Given the description of an element on the screen output the (x, y) to click on. 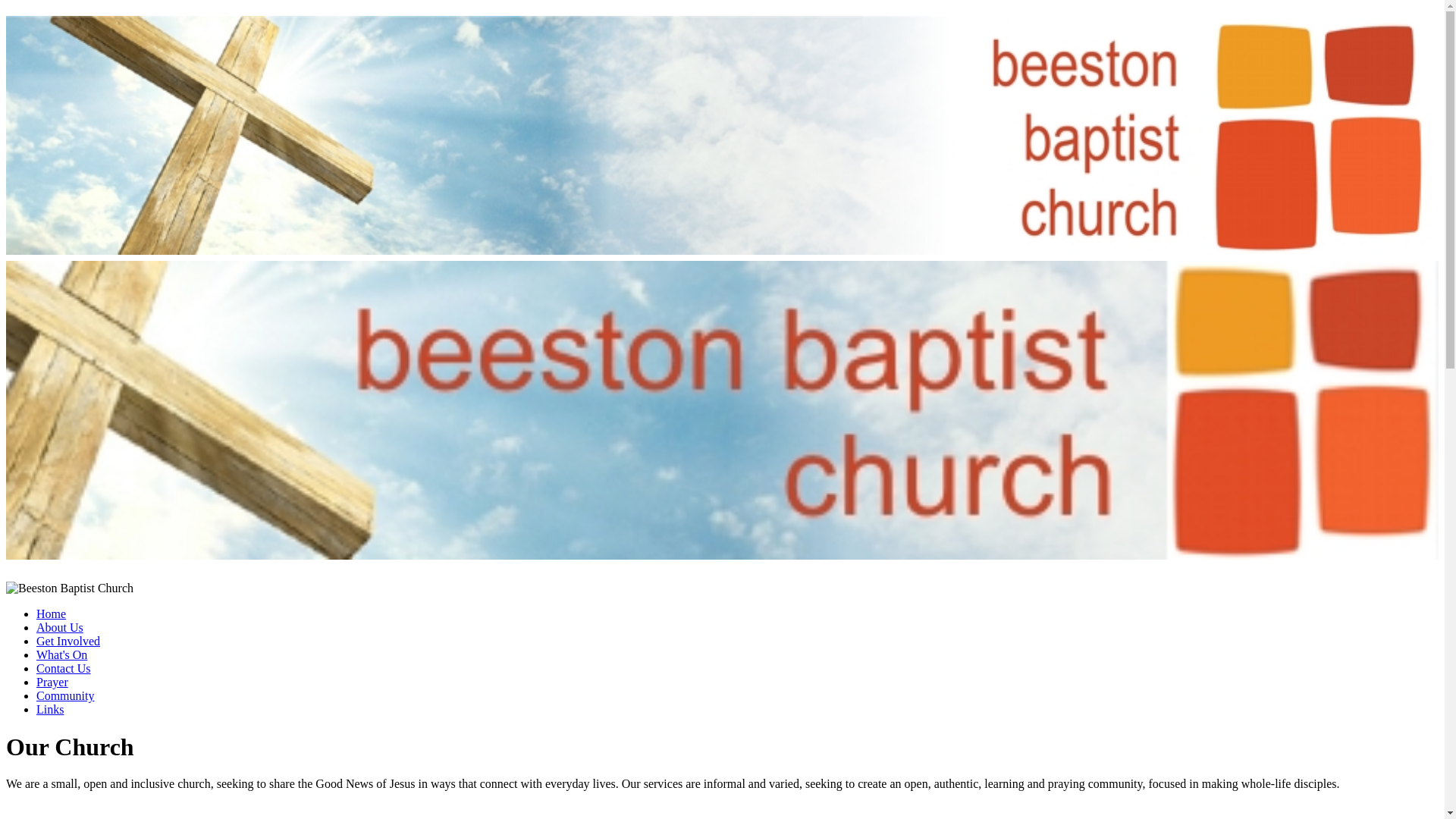
Prayer (52, 681)
Get Involved (68, 640)
Home (50, 613)
Contact Us (63, 667)
Community (65, 695)
Links (50, 708)
What's On (61, 654)
About Us (59, 626)
